Given the description of an element on the screen output the (x, y) to click on. 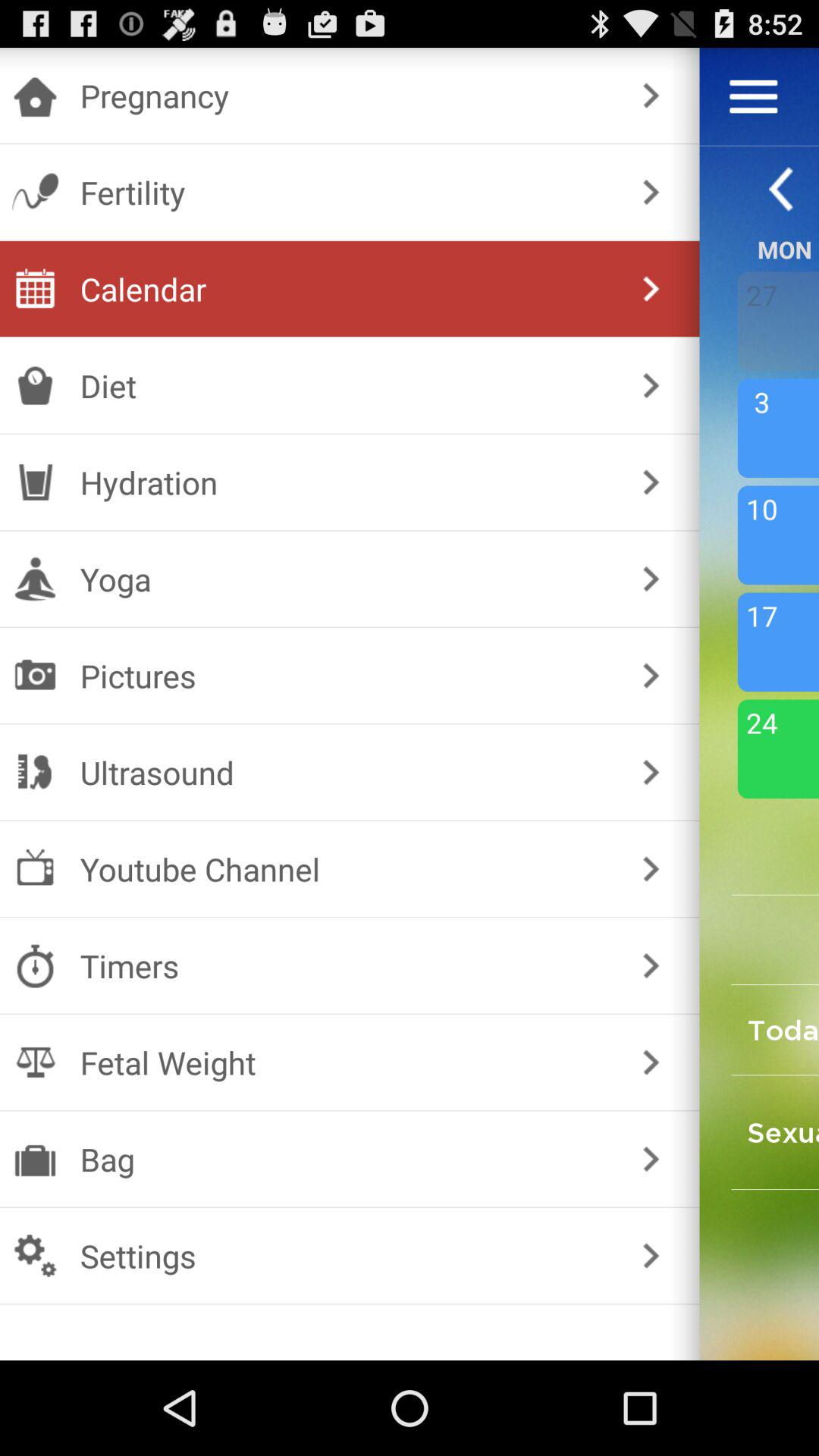
tap checkbox below the fetal weight icon (346, 1158)
